Given the description of an element on the screen output the (x, y) to click on. 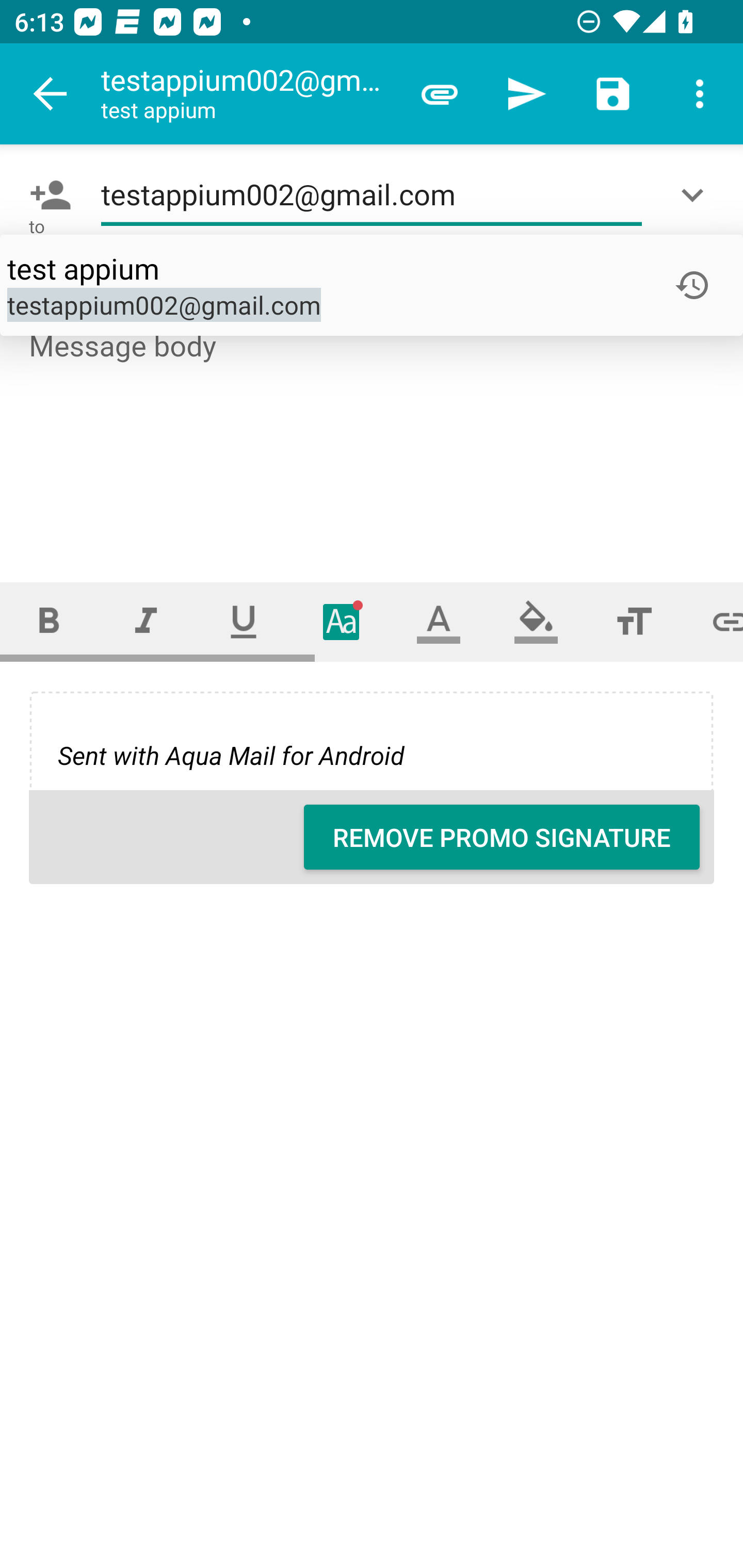
Navigate up (50, 93)
testappium002@gmail.com test appium (248, 93)
Attach (439, 93)
Send (525, 93)
Save (612, 93)
More options (699, 93)
Pick contact: To (46, 195)
Show/Add CC/BCC (696, 195)
testappium002@gmail.com (371, 195)
Message body (372, 438)
Bold (48, 621)
Italic (145, 621)
Underline (243, 621)
Typeface (font) (341, 621)
Text color (438, 621)
Fill color (536, 621)
Font size (633, 621)
REMOVE PROMO SIGNATURE (501, 837)
